Given the description of an element on the screen output the (x, y) to click on. 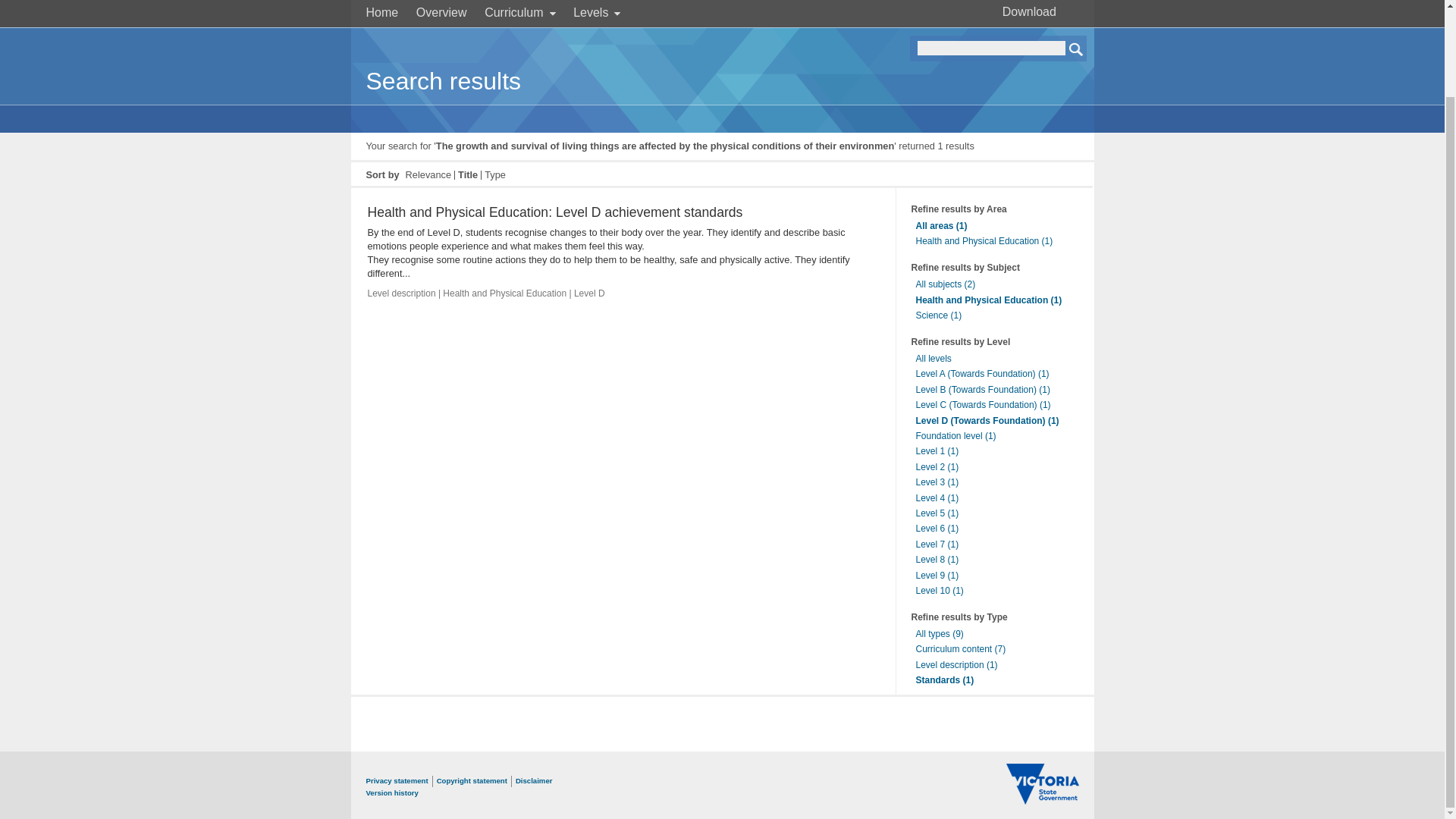
Search (1077, 48)
Sort the results by relevance (428, 173)
Overview (441, 11)
Sort the results by title (467, 173)
Curriculum (519, 11)
Link will open in a new window. (1042, 799)
Home (381, 11)
Search criteria (991, 47)
Sort the results by curriculum element type (494, 173)
